Given the description of an element on the screen output the (x, y) to click on. 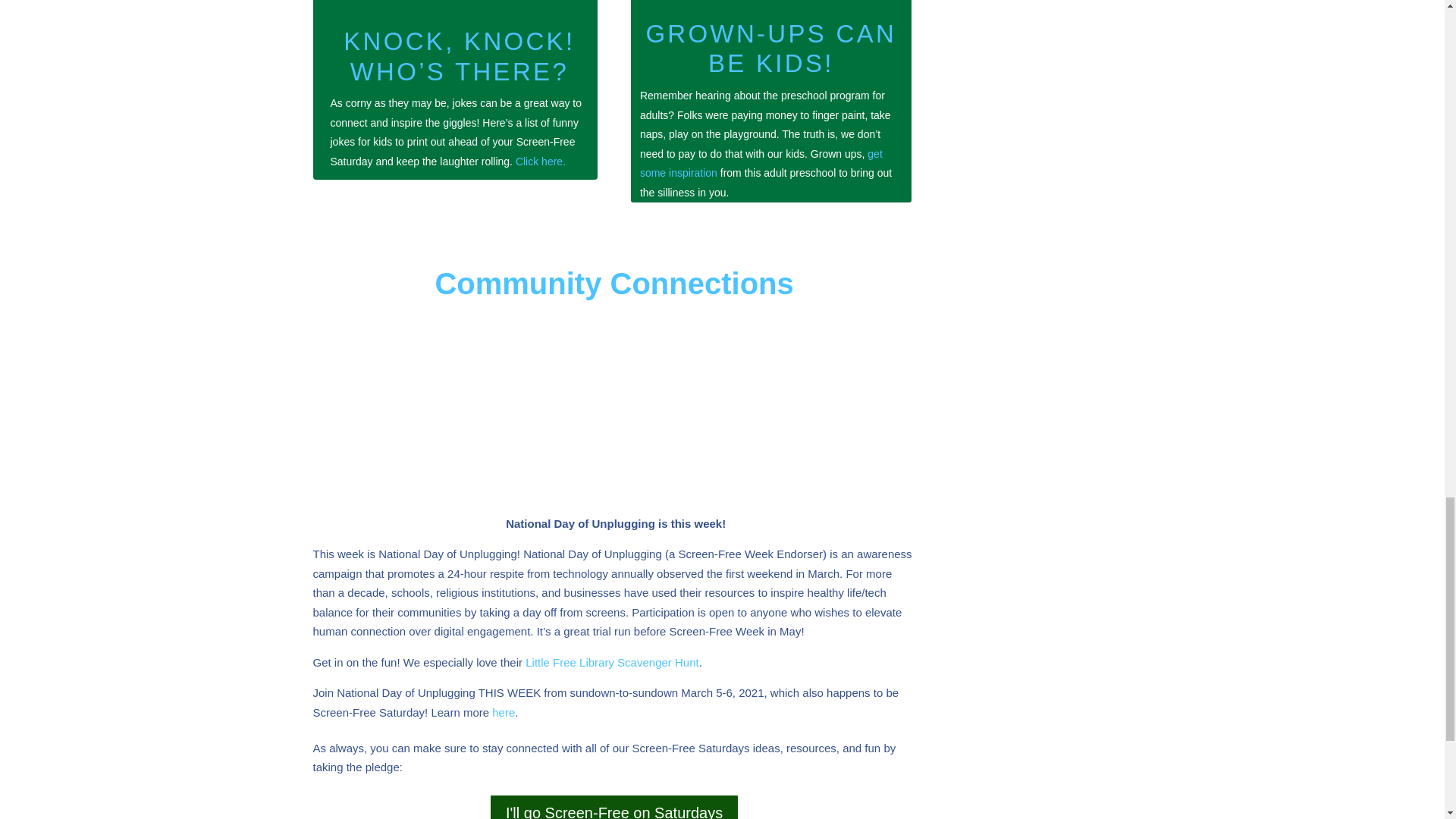
 Little Free Library Scavenger Hunt (610, 662)
Click here. (540, 161)
I'll go Screen-Free on Saturdays (614, 806)
get some inspiration (761, 163)
here (503, 712)
